Given the description of an element on the screen output the (x, y) to click on. 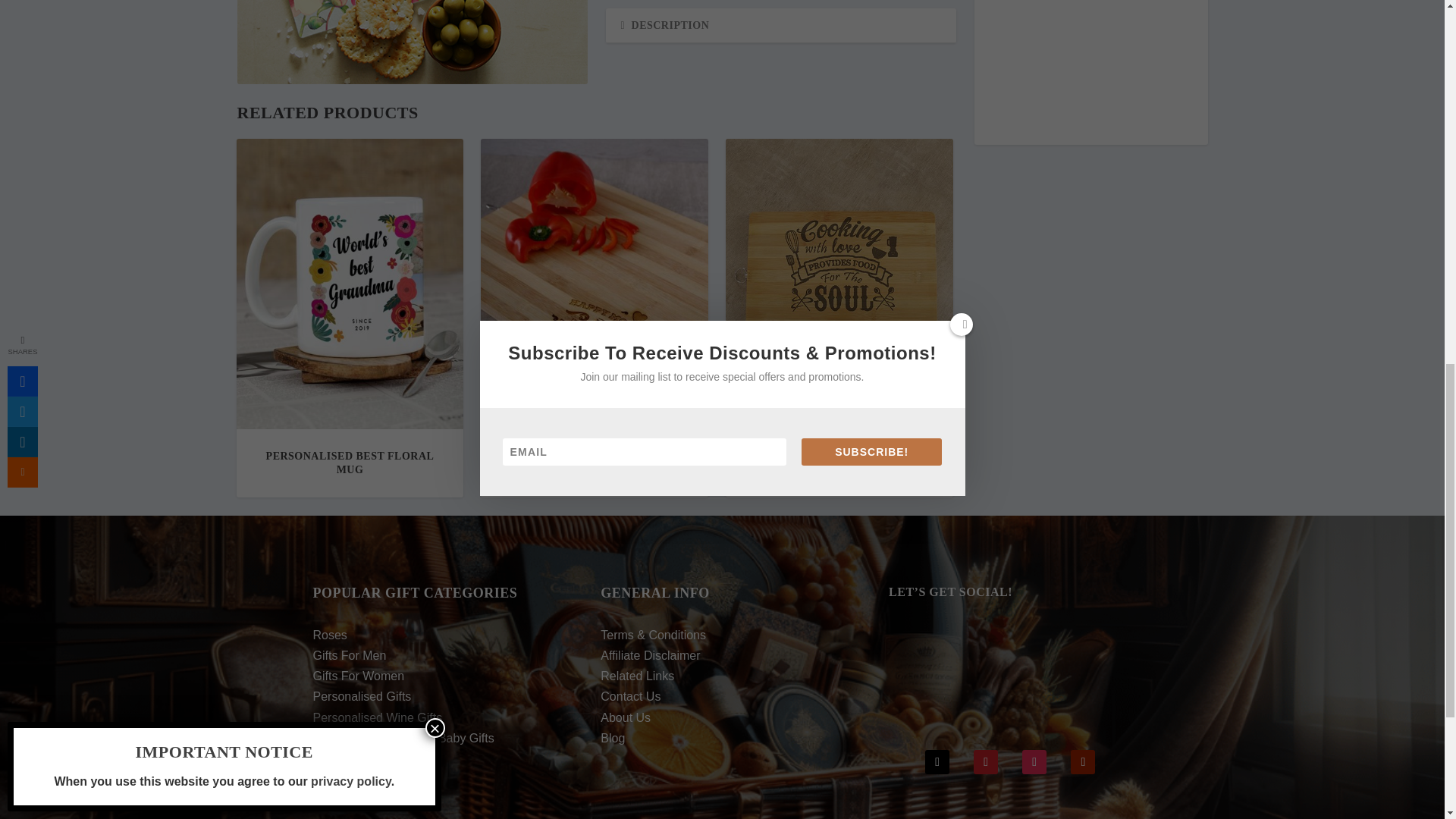
Follow on X (936, 761)
Advertisement (1090, 64)
Follow on Instagram (1034, 761)
Follow on Pinterest (985, 761)
Personalised Floral Design Glass Chopping Board (410, 42)
Follow on Youtube (1082, 761)
